Given the description of an element on the screen output the (x, y) to click on. 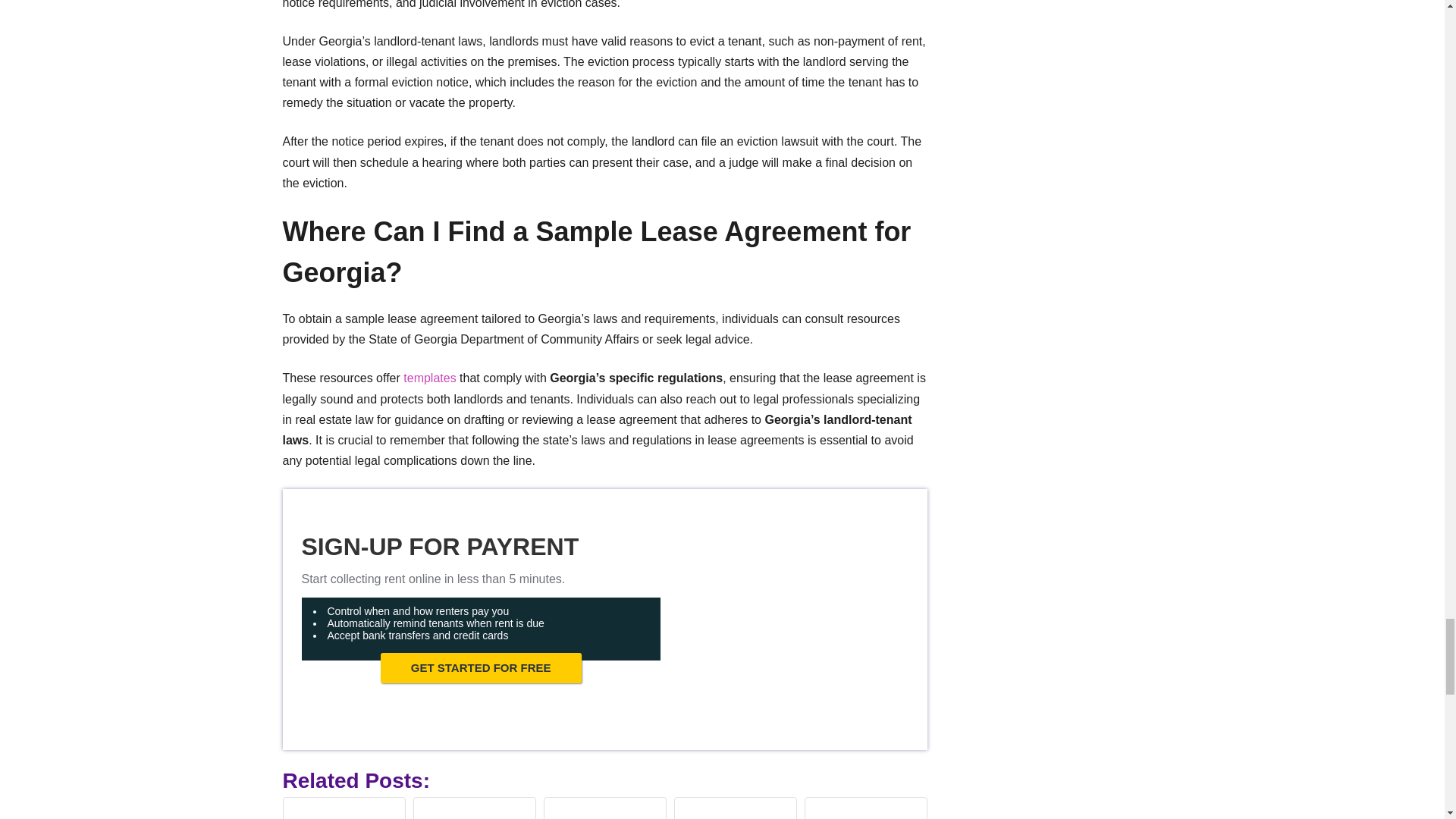
Alabama Lease Agreements: A 2024 Guide (865, 811)
Tennessee Lease Agreements: A 2024 Guide (735, 811)
Tennessee Lease Agreements: A 2024 Guide (735, 810)
Arkansas Lease Agreements: A 2024 Guide (604, 810)
Breaking a lease in Georgia (343, 810)
Oklahoma Lease Agreements: A 2024 Guide (473, 810)
Oklahoma Lease Agreements: A 2024 Guide (474, 811)
Breaking a lease in Georgia (343, 811)
templates (431, 377)
Arkansas Lease Agreements: A 2024 Guide (604, 811)
